Given the description of an element on the screen output the (x, y) to click on. 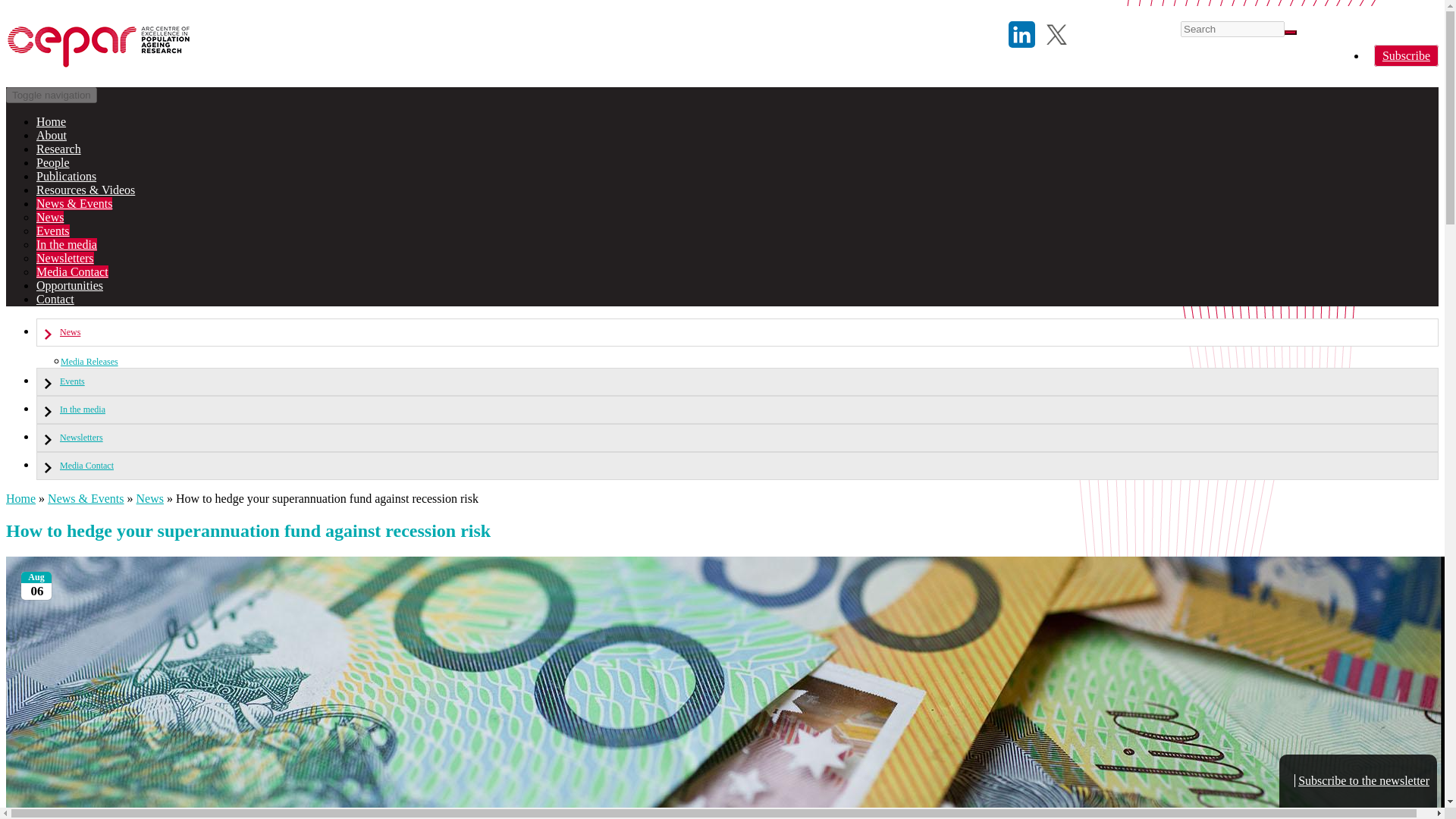
Home (50, 121)
Contact (55, 298)
In the media (737, 409)
Research (58, 148)
Media Contact (737, 465)
Enter the terms you wish to search for. (1232, 28)
Subscribe (1406, 55)
News (149, 498)
Events (737, 381)
News (737, 332)
In the media (66, 244)
People (52, 162)
